Given the description of an element on the screen output the (x, y) to click on. 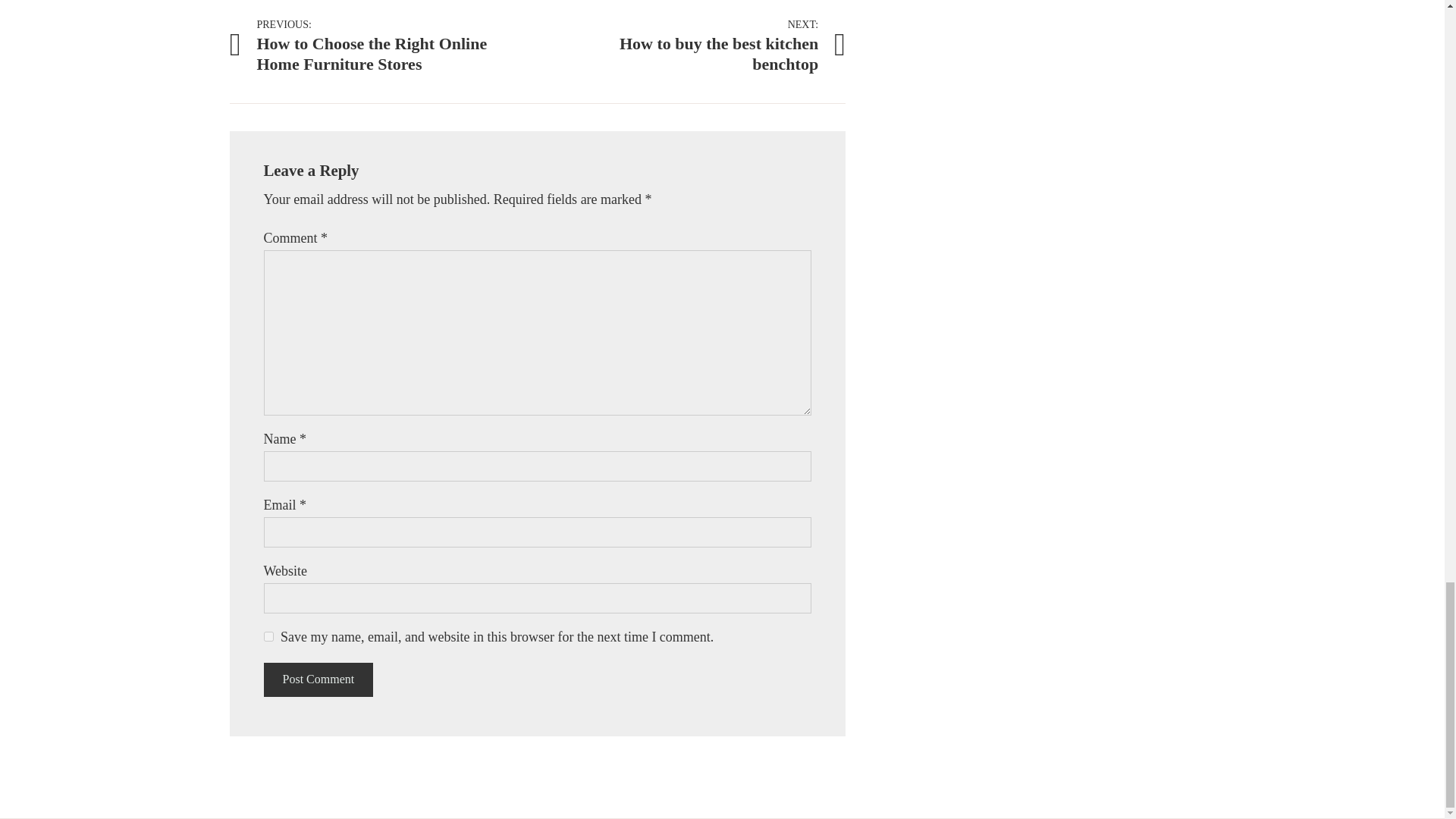
yes (691, 43)
Post Comment (268, 636)
Post Comment (318, 679)
